Given the description of an element on the screen output the (x, y) to click on. 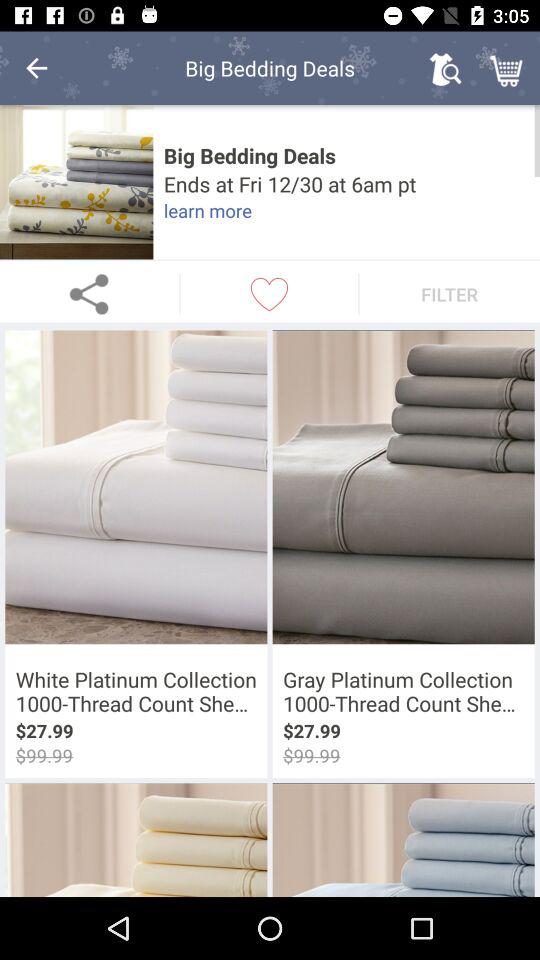
share the page (89, 294)
